Given the description of an element on the screen output the (x, y) to click on. 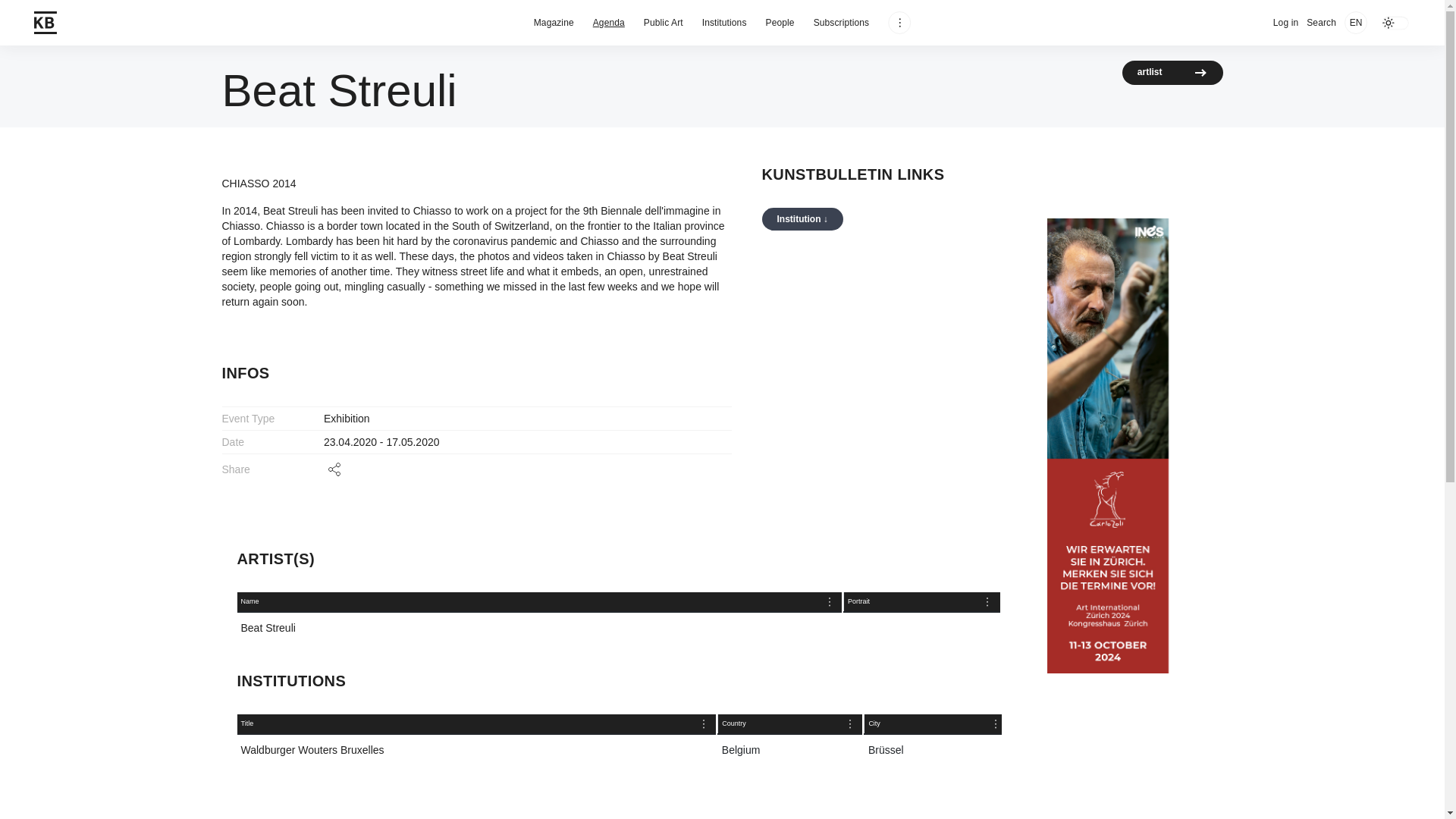
Agenda (608, 22)
Institutions (723, 22)
Subscriptions (841, 22)
Public Art (618, 623)
People (662, 22)
Magazine (779, 22)
